Given the description of an element on the screen output the (x, y) to click on. 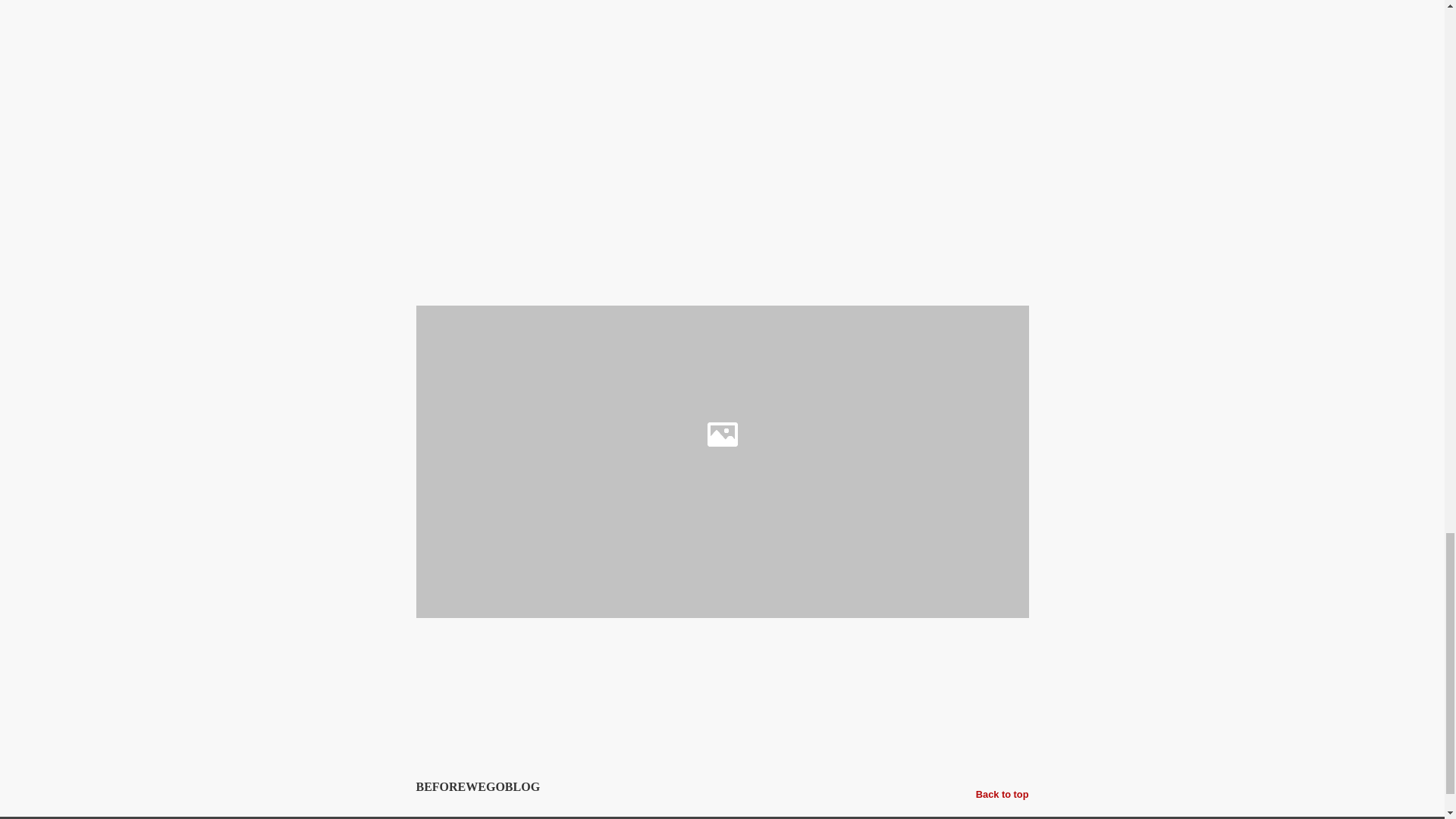
Books (541, 648)
reviews (680, 648)
spfbo (717, 648)
fantasy (578, 648)
indie author (628, 648)
Leave a Comment (721, 727)
Back to top (1002, 794)
